Given the description of an element on the screen output the (x, y) to click on. 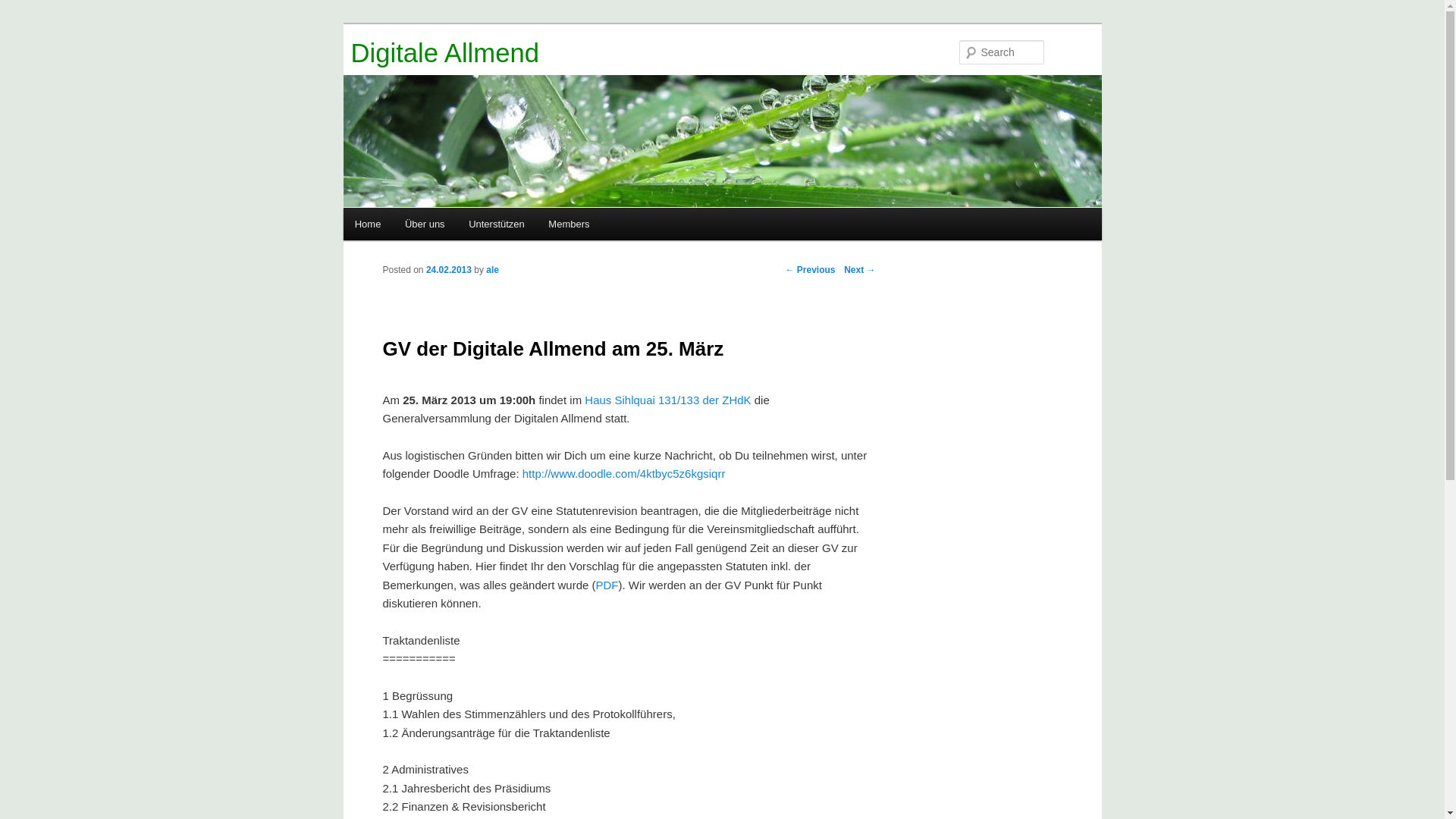
PDF Element type: text (607, 583)
Home Element type: text (367, 223)
Skip to secondary content Element type: text (429, 226)
http://www.doodle.com/4ktbyc5z6kgsiqrr Element type: text (623, 473)
Haus Sihlquai 131/133 der ZHdK Element type: text (667, 399)
Digitale Allmend Element type: text (444, 52)
Members Element type: text (569, 223)
Skip to primary content Element type: text (422, 226)
ale Element type: text (492, 269)
24.02.2013 Element type: text (448, 269)
Search Element type: text (24, 8)
